Given the description of an element on the screen output the (x, y) to click on. 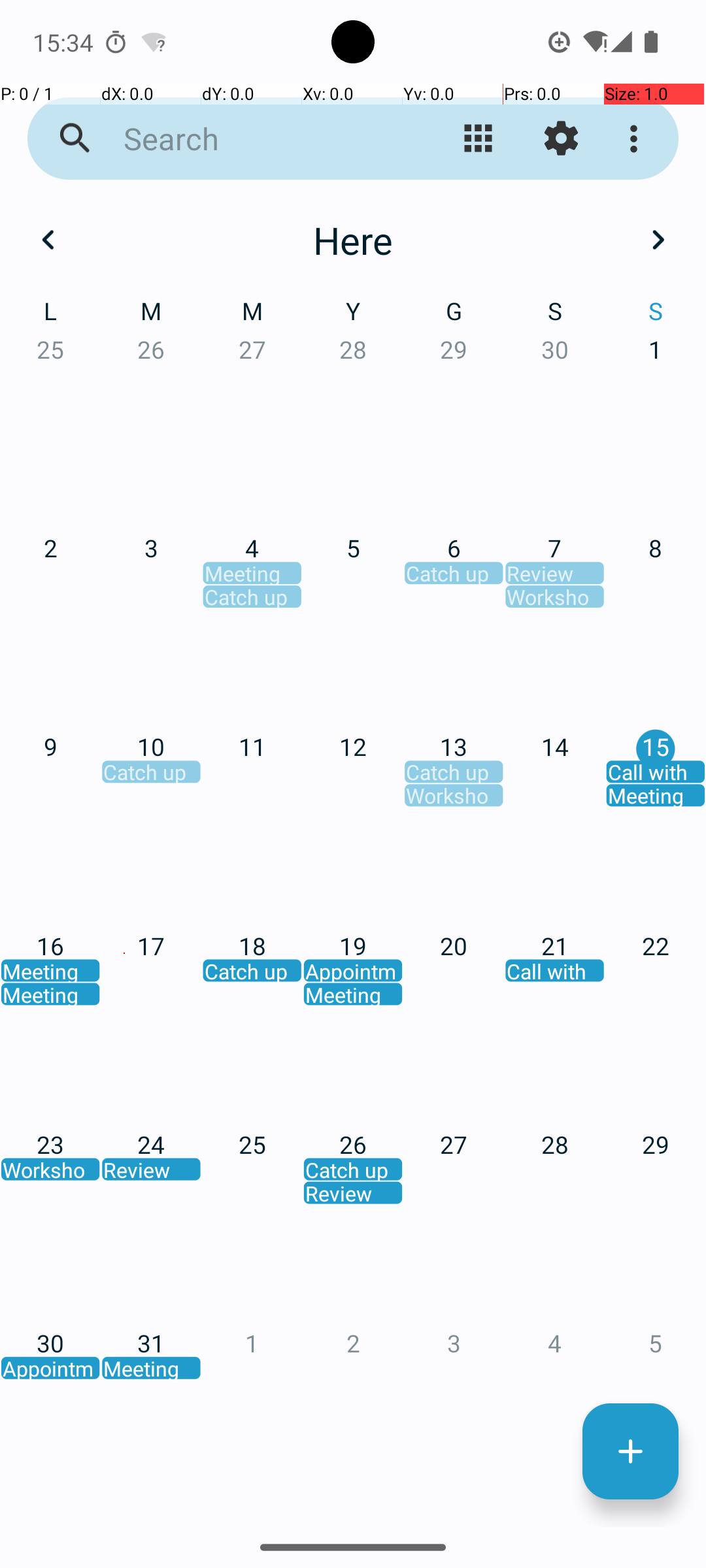
Kemmañ ar gwel Element type: android.widget.Button (477, 138)
Darvoud nevez Element type: android.widget.ImageButton (630, 1451)
Here Element type: android.widget.TextView (352, 239)
